Given the description of an element on the screen output the (x, y) to click on. 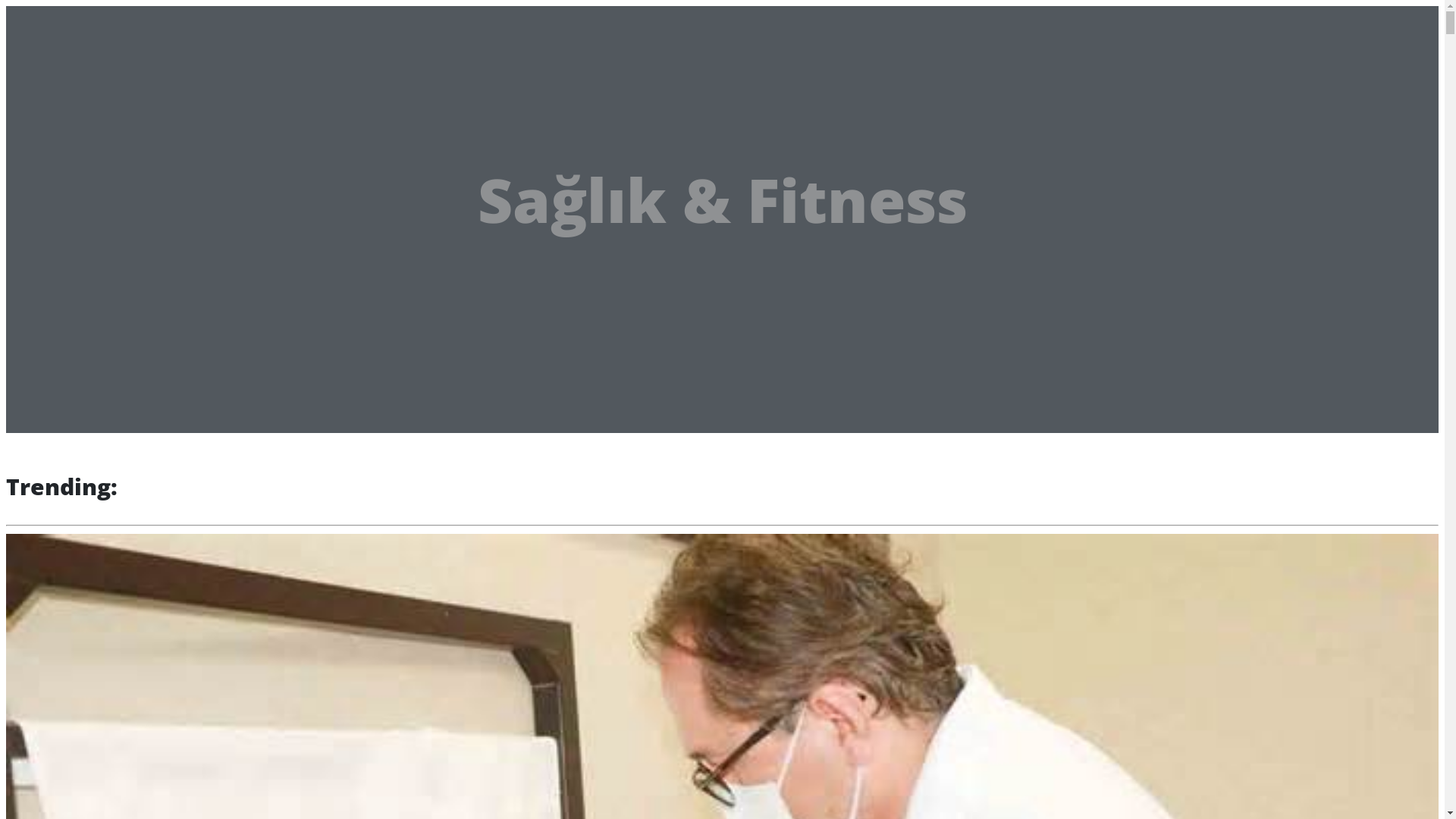
kiev.cd Element type: text (49, 19)
HOME Element type: text (67, 67)
MENU Element type: text (120, 22)
SDFDSF32FSD Element type: text (85, 87)
